Given the description of an element on the screen output the (x, y) to click on. 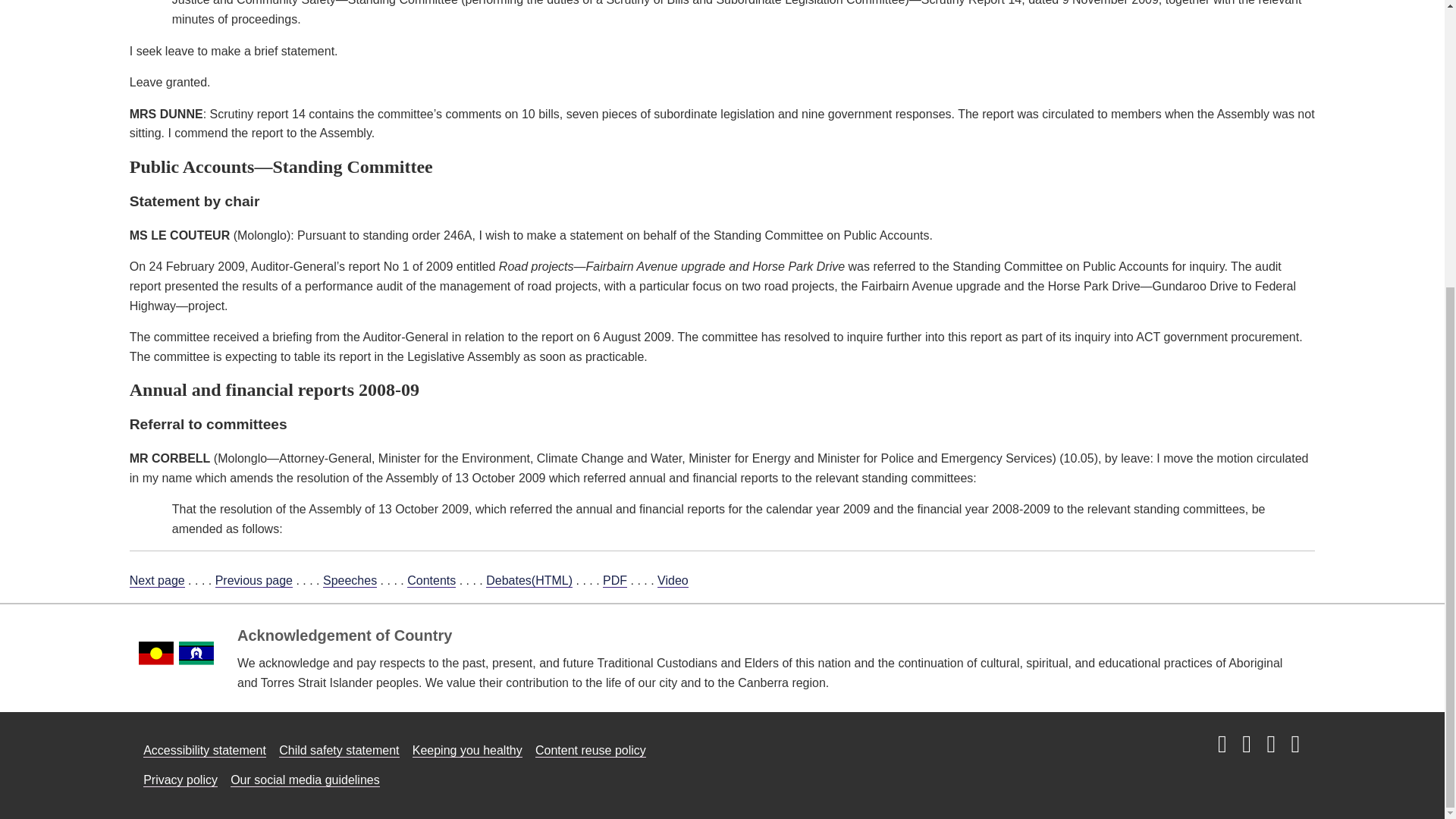
PDF (614, 581)
Child safety statement (338, 750)
Read our content sharing and re-use policy (590, 750)
Contents (431, 581)
Keeping you healthy (467, 750)
Read our child safety committment (338, 750)
Next page (156, 581)
Video (673, 581)
Accessibility statement (204, 750)
Read about how we're keeping our Assembly healthy (467, 750)
Speeches (350, 581)
Content reuse policy (590, 750)
Read our access and inclusion statement (204, 750)
Previous page (253, 581)
Our social media guidelines (305, 780)
